Given the description of an element on the screen output the (x, y) to click on. 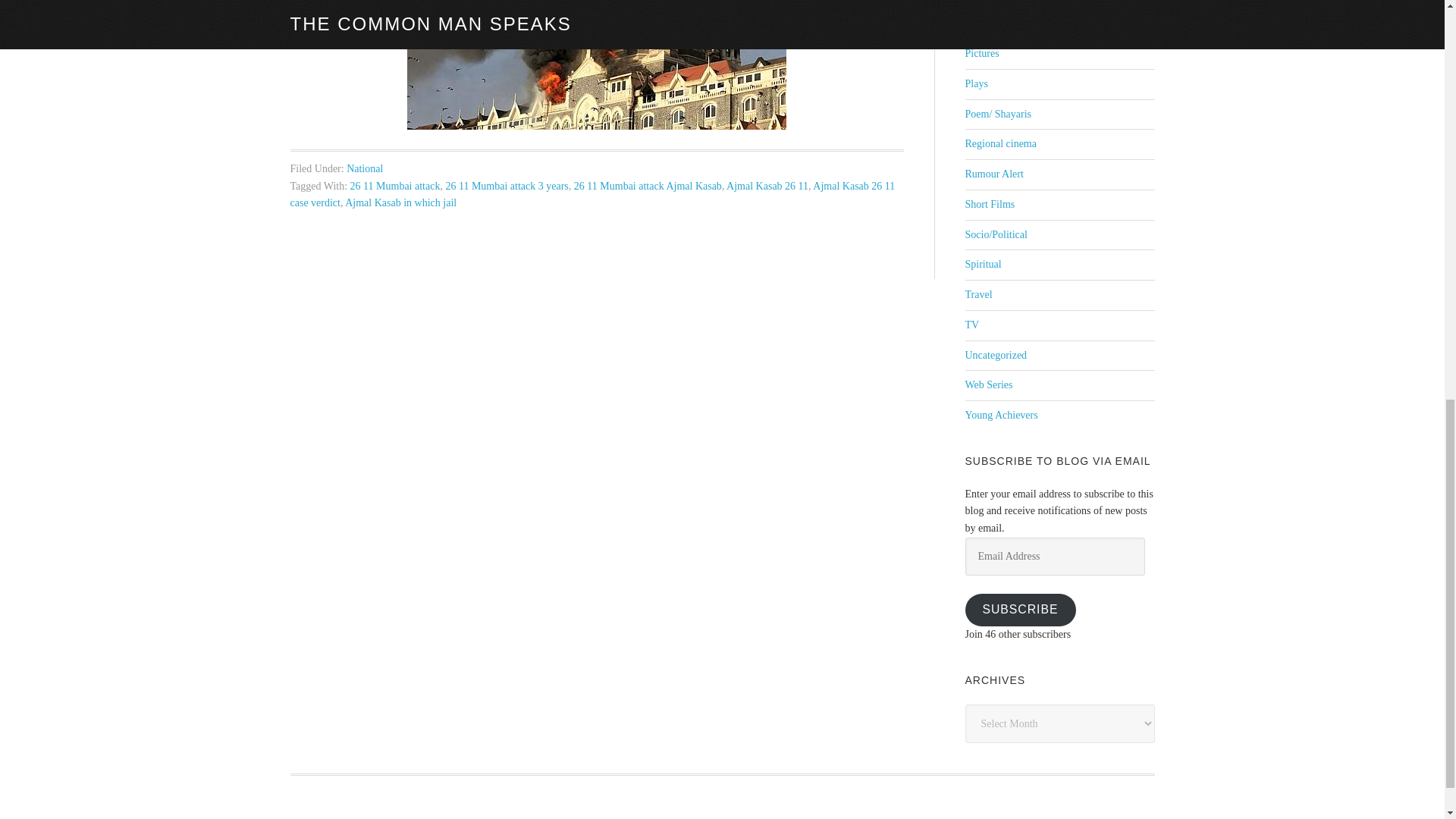
26 11 Mumbai attack Ajmal Kasab (647, 185)
Plays (975, 83)
Ajmal Kasab 26 11 (767, 185)
Pictures (980, 52)
Ajmal Kasab 26 11 case verdict (592, 194)
26 11 Mumbai attack 3 years (506, 185)
Personal experience (1006, 22)
Rumour Alert (993, 173)
Regional cinema (999, 143)
Ajmal Kasab in which jail (401, 202)
